Given the description of an element on the screen output the (x, y) to click on. 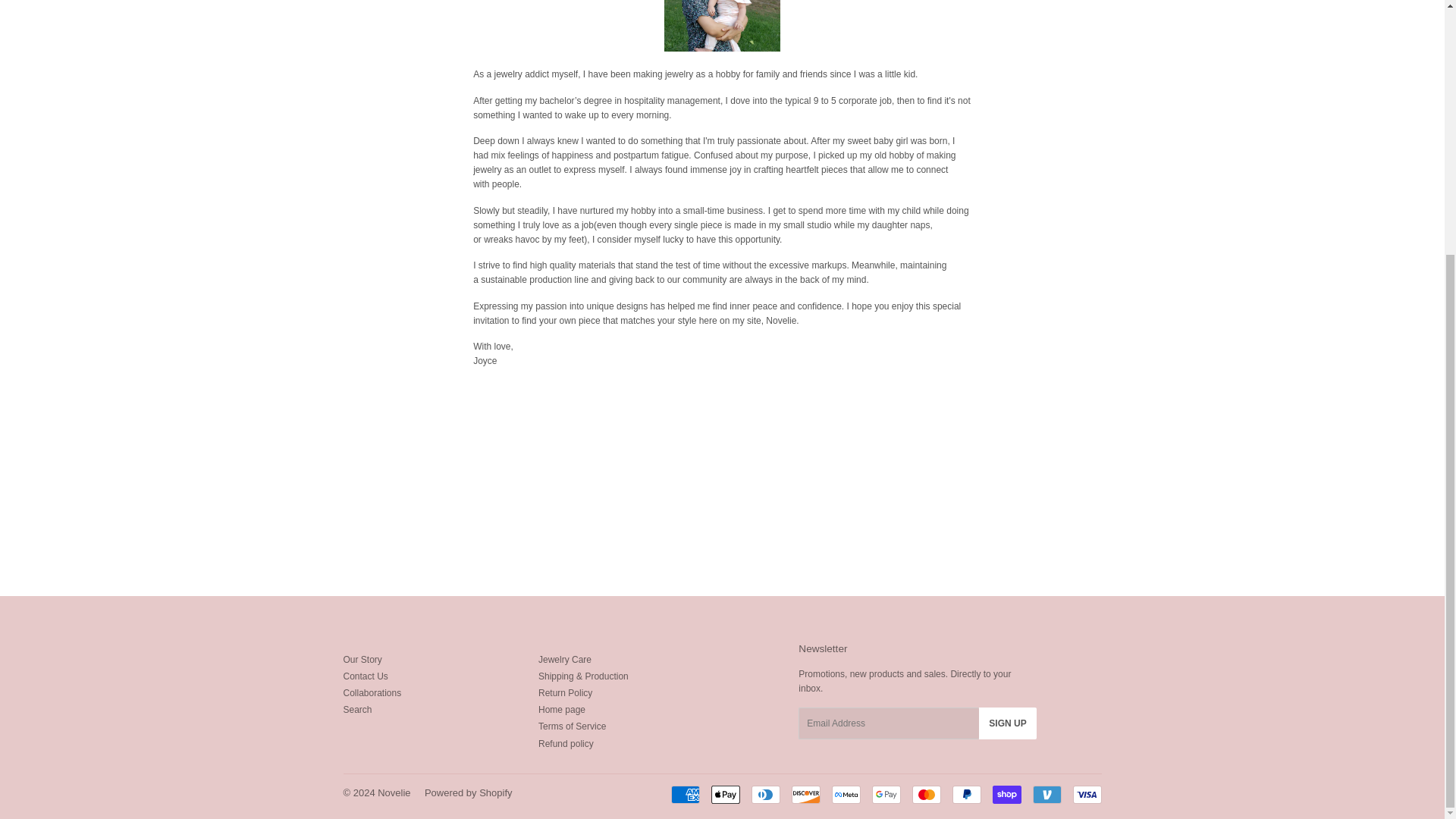
Search (356, 709)
Return Policy (565, 692)
Shop Pay (1005, 794)
Jewelry Care (564, 659)
Meta Pay (845, 794)
Visa (1085, 794)
Refund policy (566, 743)
PayPal (966, 794)
Google Pay (886, 794)
Venmo (1046, 794)
Diners Club (764, 794)
Our Story (361, 659)
Terms of Service (571, 726)
Discover (806, 794)
Home page (561, 709)
